Given the description of an element on the screen output the (x, y) to click on. 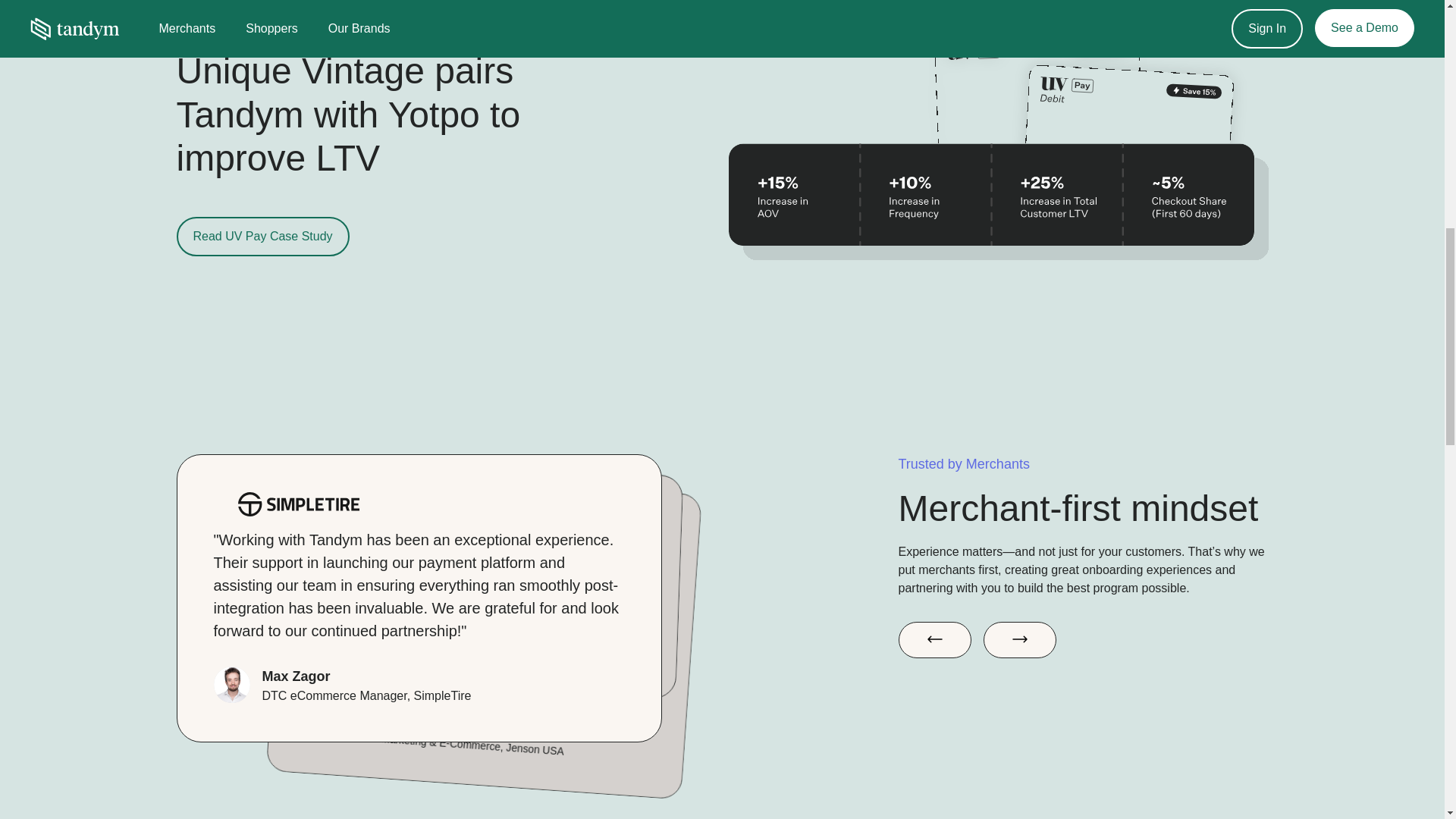
Read UV Pay Case Study (262, 236)
